Given the description of an element on the screen output the (x, y) to click on. 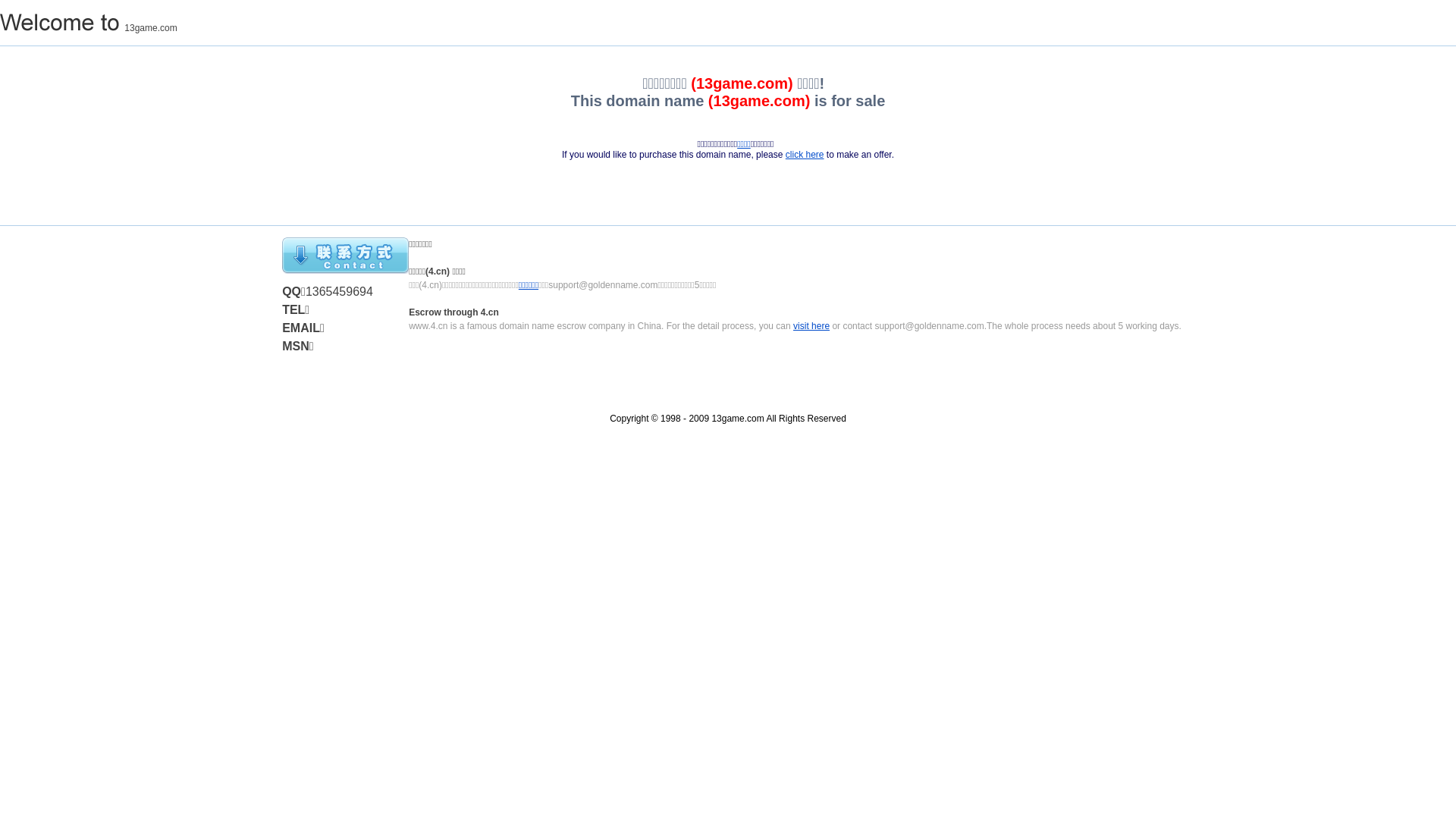
visit here Element type: text (811, 325)
click here Element type: text (804, 154)
